Given the description of an element on the screen output the (x, y) to click on. 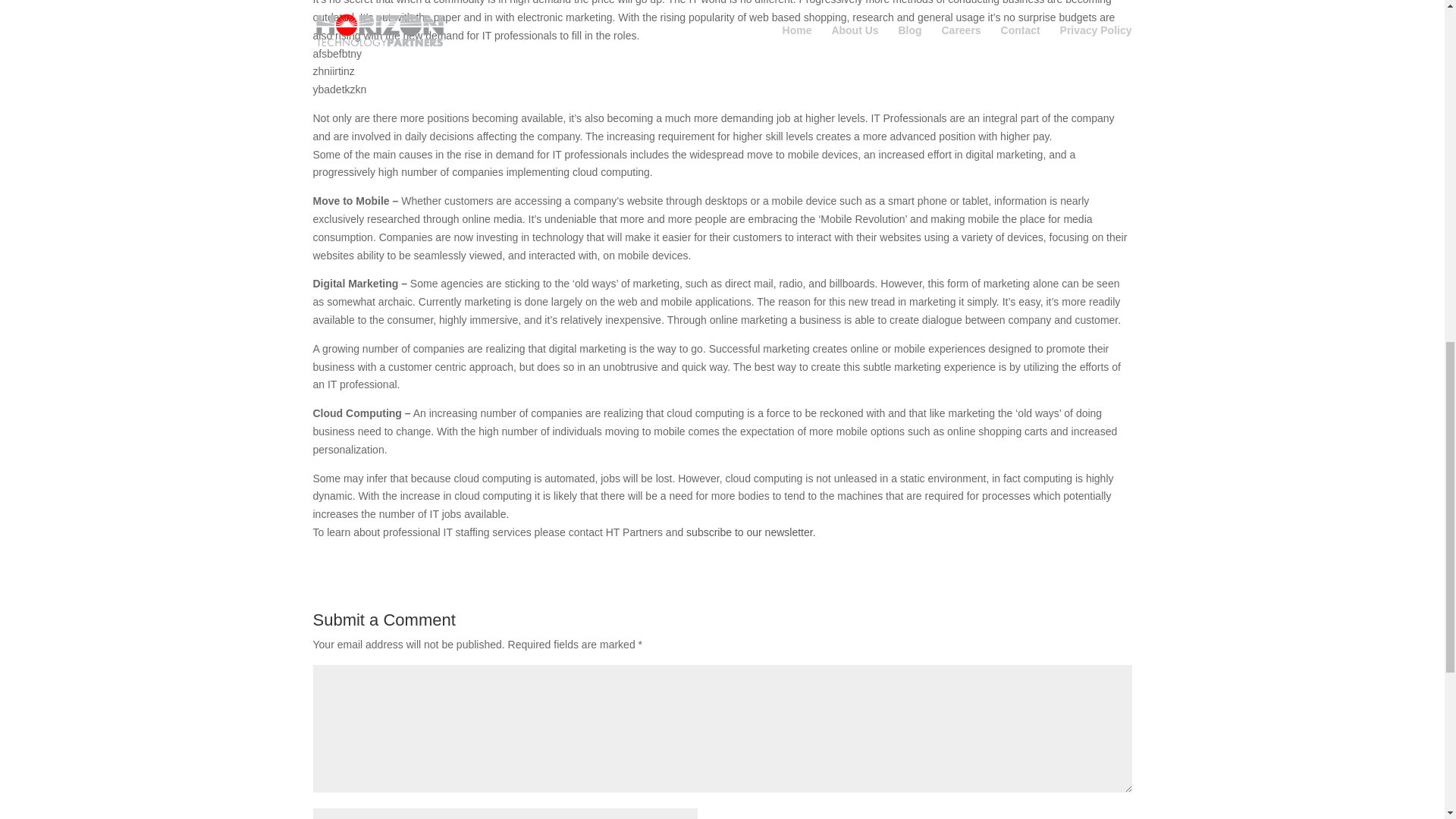
subscribe to our newsletter. (750, 532)
